Given the description of an element on the screen output the (x, y) to click on. 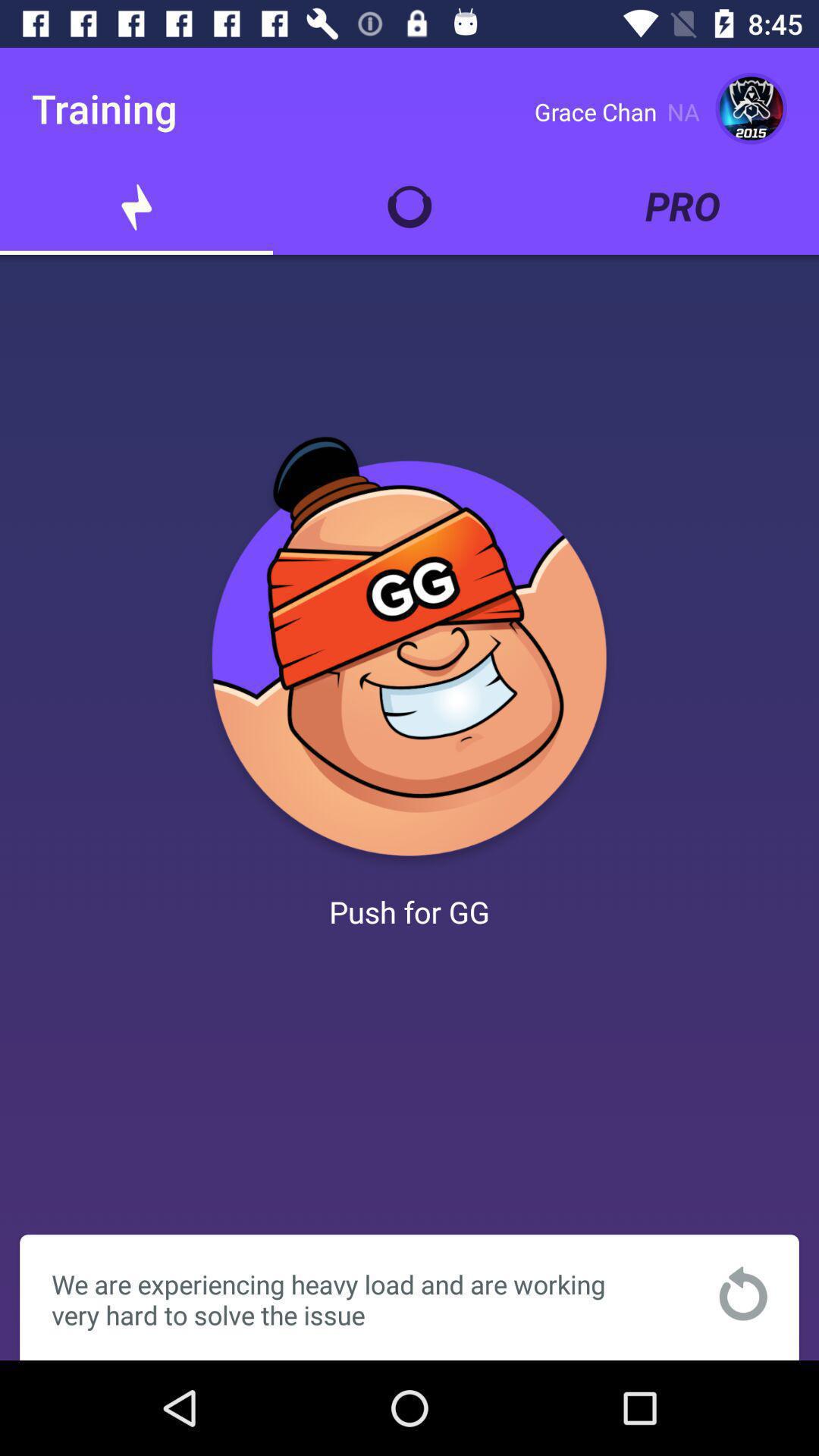
select the icon above push for gg (409, 652)
